Given the description of an element on the screen output the (x, y) to click on. 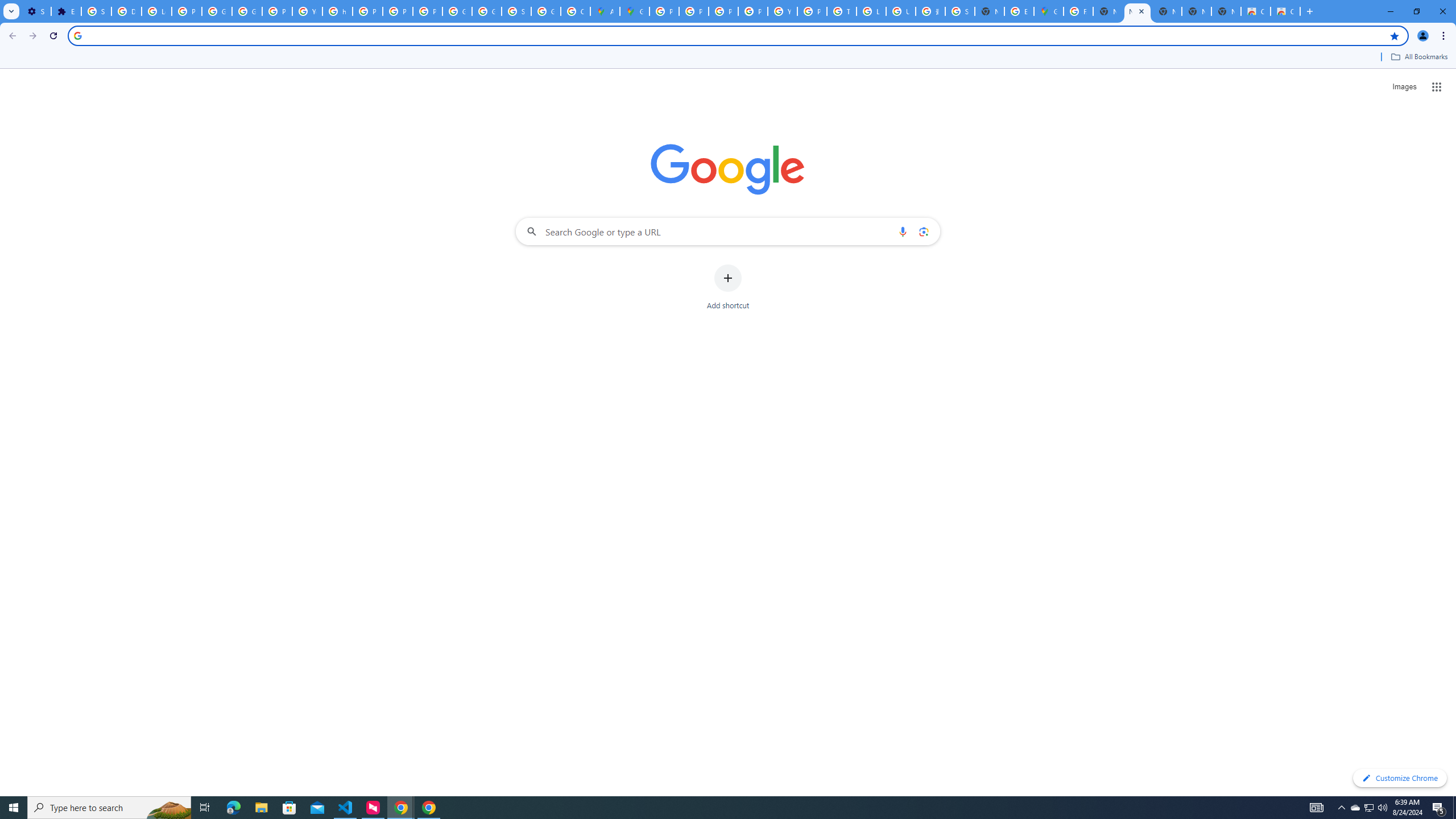
Close (1141, 11)
Google Account Help (216, 11)
Search Google or type a URL (727, 230)
Google Account Help (247, 11)
Restore (1416, 11)
https://scholar.google.com/ (337, 11)
Reload (52, 35)
Sign in - Google Accounts (95, 11)
New Tab (989, 11)
Tips & tricks for Chrome - Google Chrome Help (841, 11)
Minimize (1390, 11)
